Given the description of an element on the screen output the (x, y) to click on. 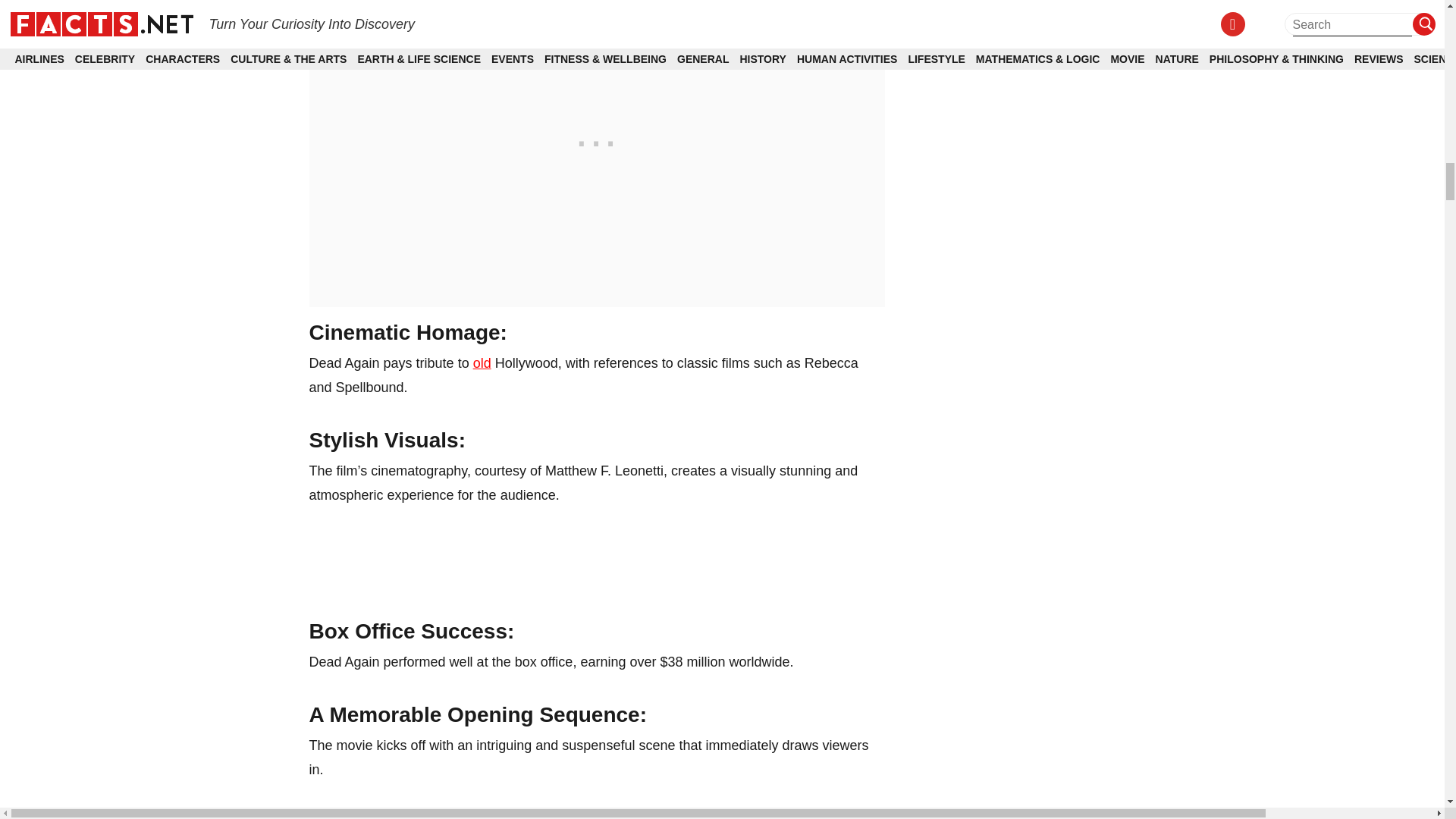
old (482, 363)
